Given the description of an element on the screen output the (x, y) to click on. 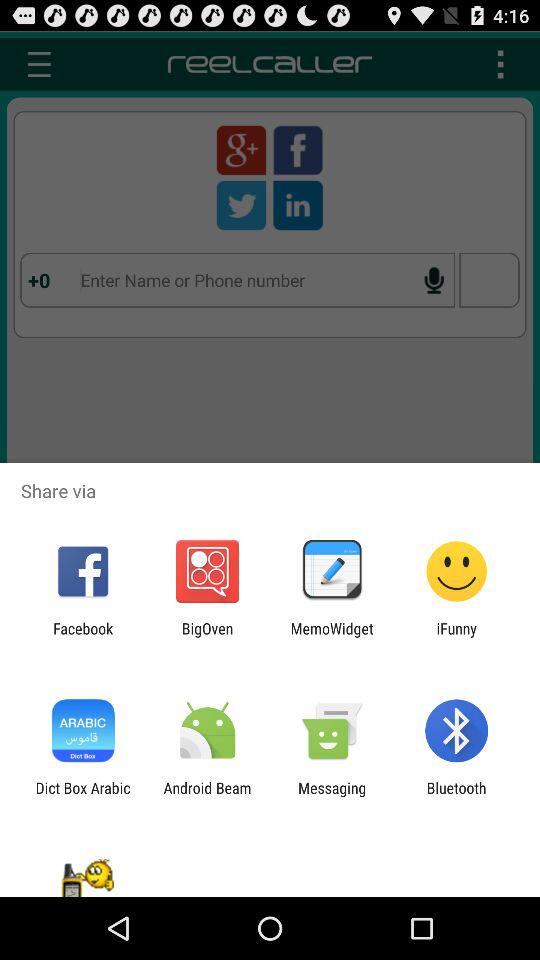
tap app next to the android beam (332, 796)
